Given the description of an element on the screen output the (x, y) to click on. 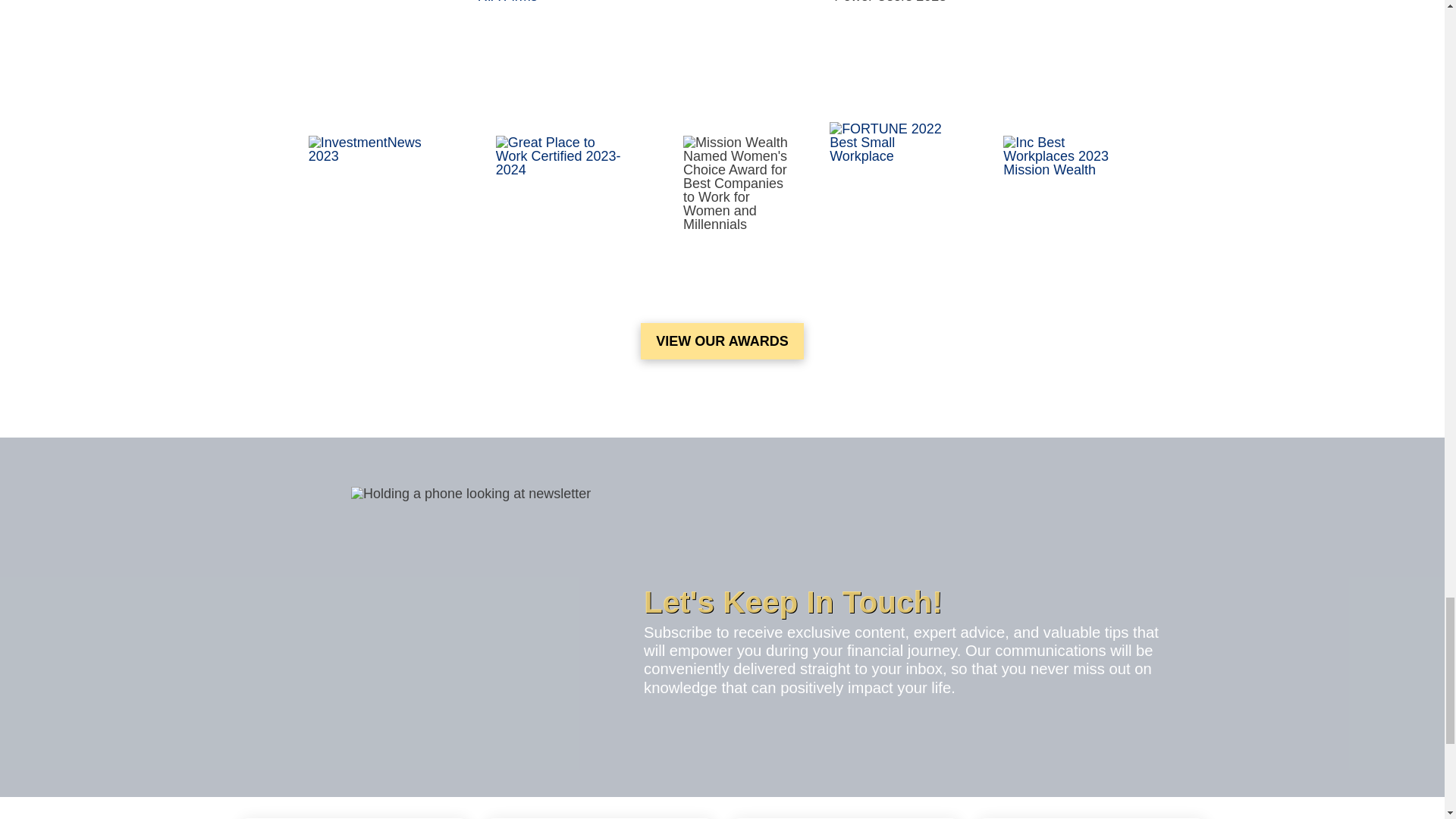
VIEW OUR AWARDS (721, 341)
